Given the description of an element on the screen output the (x, y) to click on. 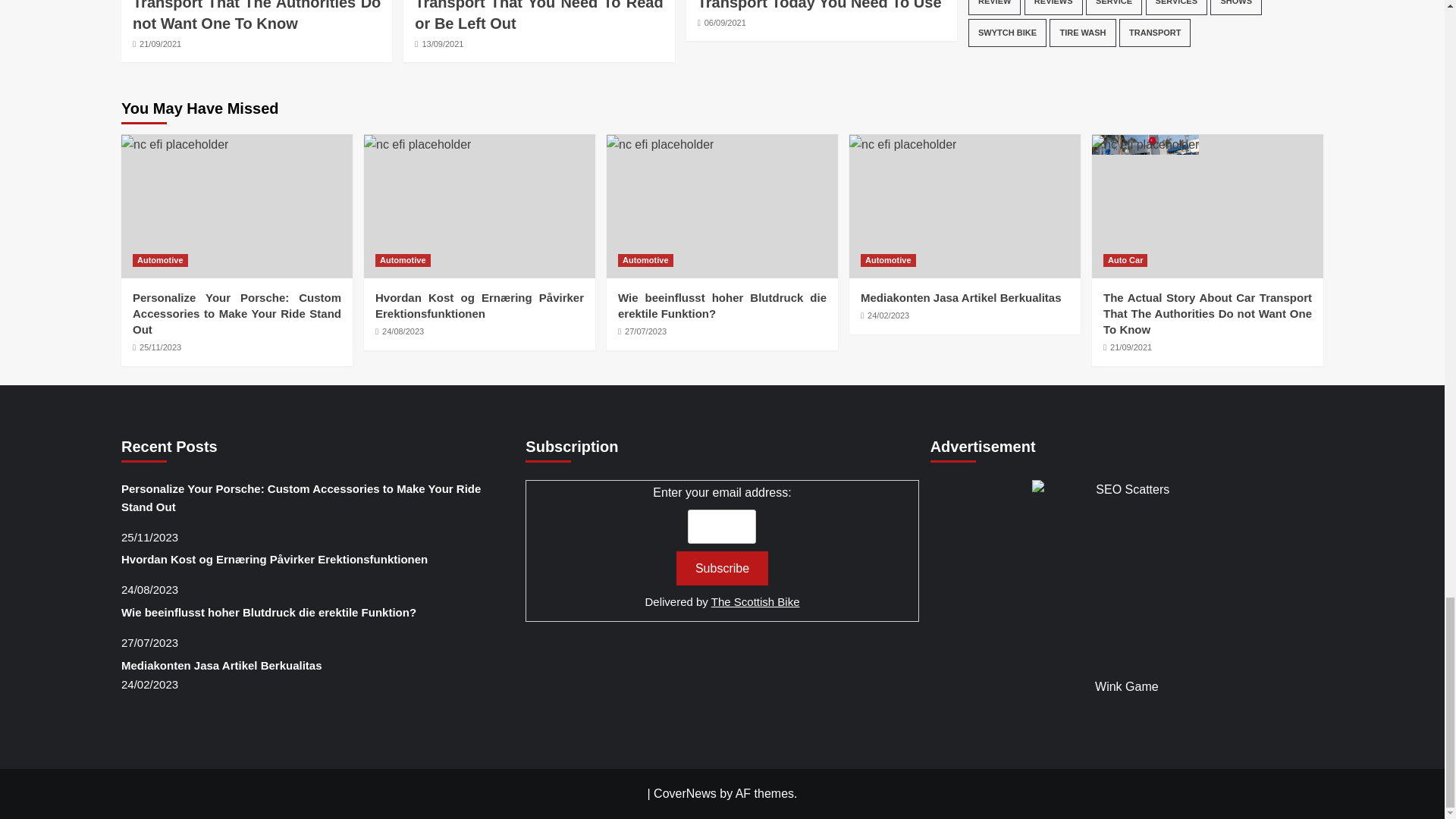
Subscribe (722, 568)
5 Recommendations on Car Transport Today You Need To Use (820, 5)
